Given the description of an element on the screen output the (x, y) to click on. 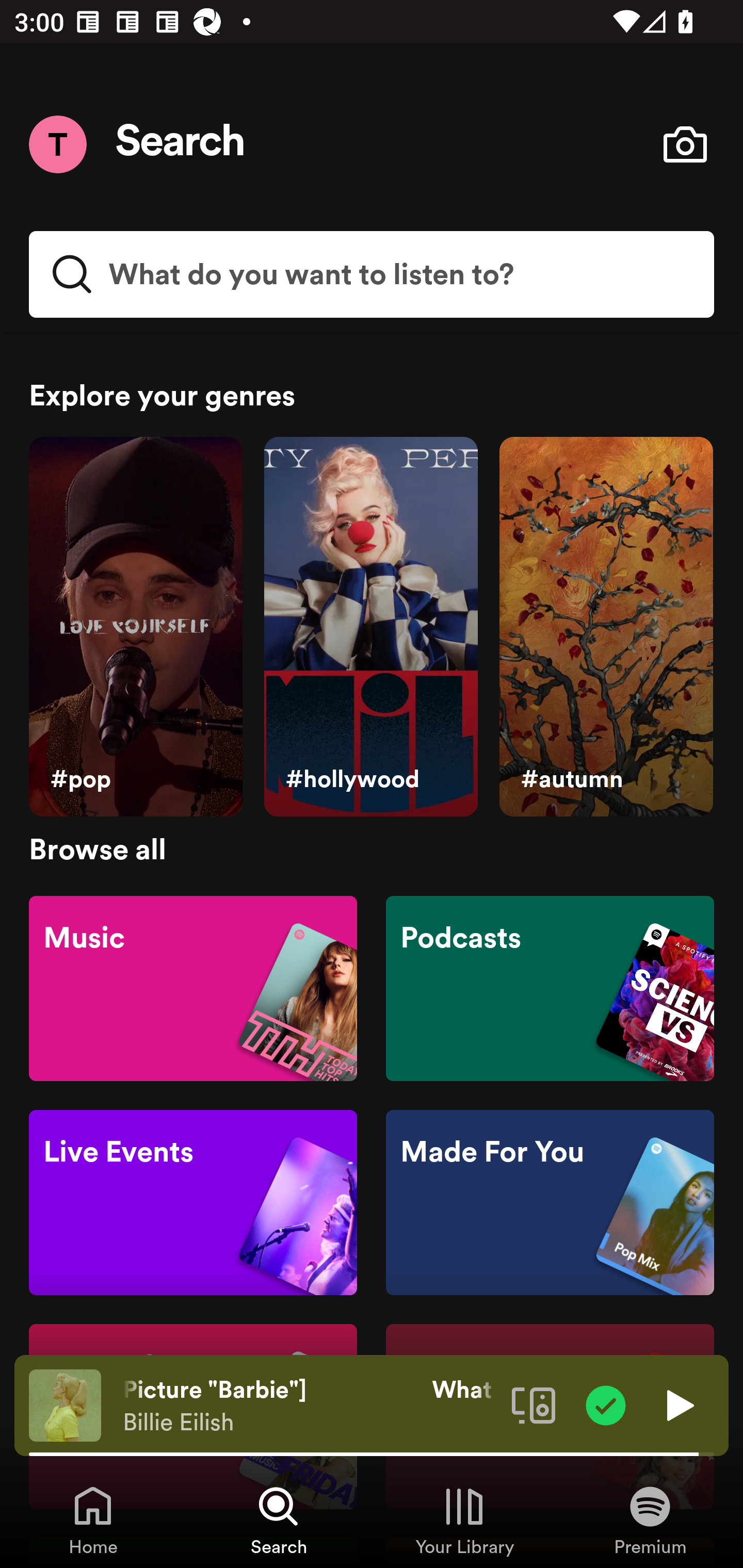
Menu (57, 144)
Open camera (685, 145)
Search (180, 144)
#pop (135, 626)
#hollywood (370, 626)
#autumn (606, 626)
Music (192, 987)
Podcasts (549, 987)
Live Events (192, 1202)
Made For You (549, 1202)
The cover art of the currently playing track (64, 1404)
Connect to a device. Opens the devices menu (533, 1404)
Item added (605, 1404)
Play (677, 1404)
Home, Tab 1 of 4 Home Home (92, 1519)
Search, Tab 2 of 4 Search Search (278, 1519)
Your Library, Tab 3 of 4 Your Library Your Library (464, 1519)
